Given the description of an element on the screen output the (x, y) to click on. 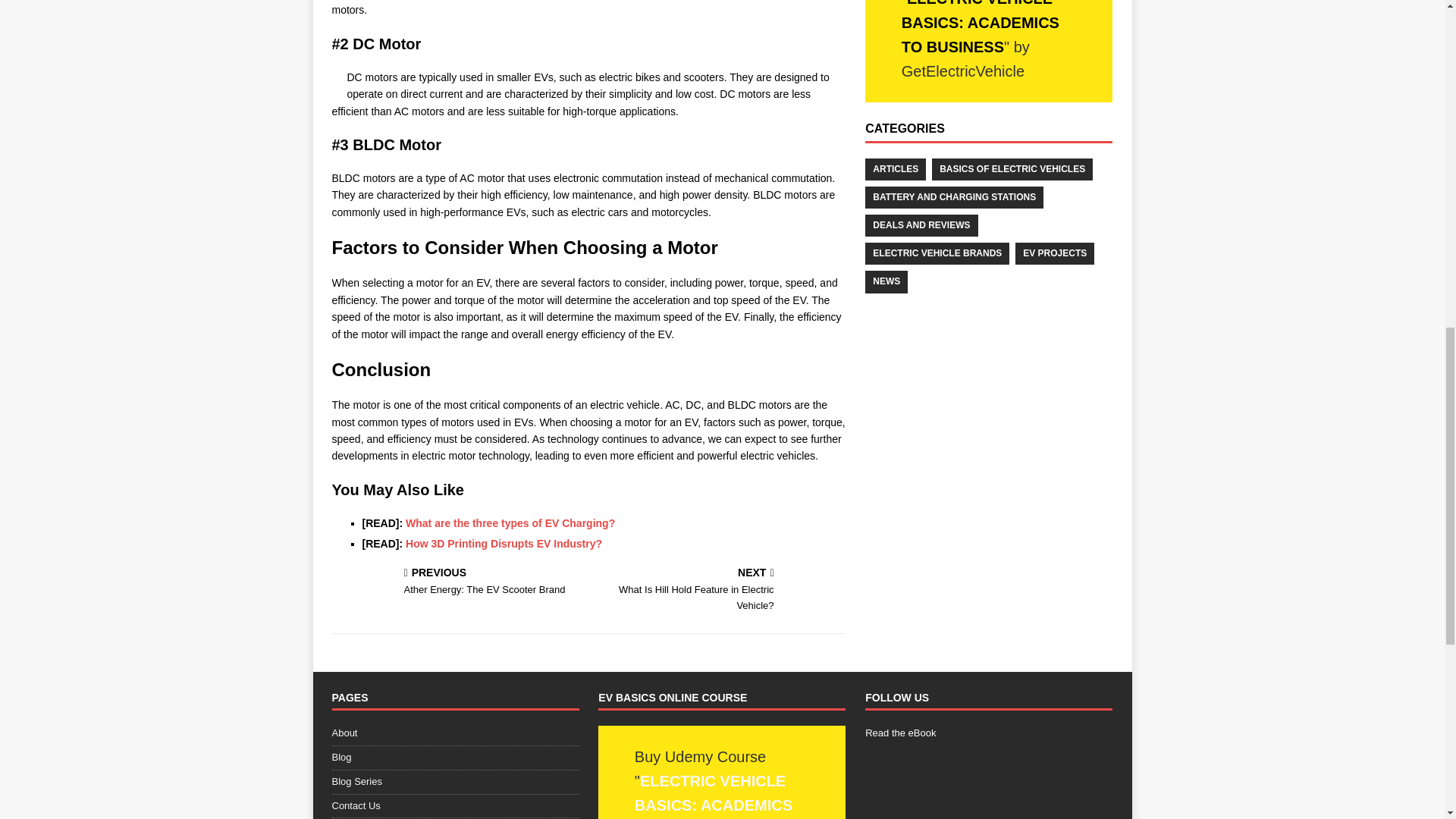
What are the three types of EV Charging? (510, 522)
How 3D Printing Disrupts EV Industry? (720, 590)
